Given the description of an element on the screen output the (x, y) to click on. 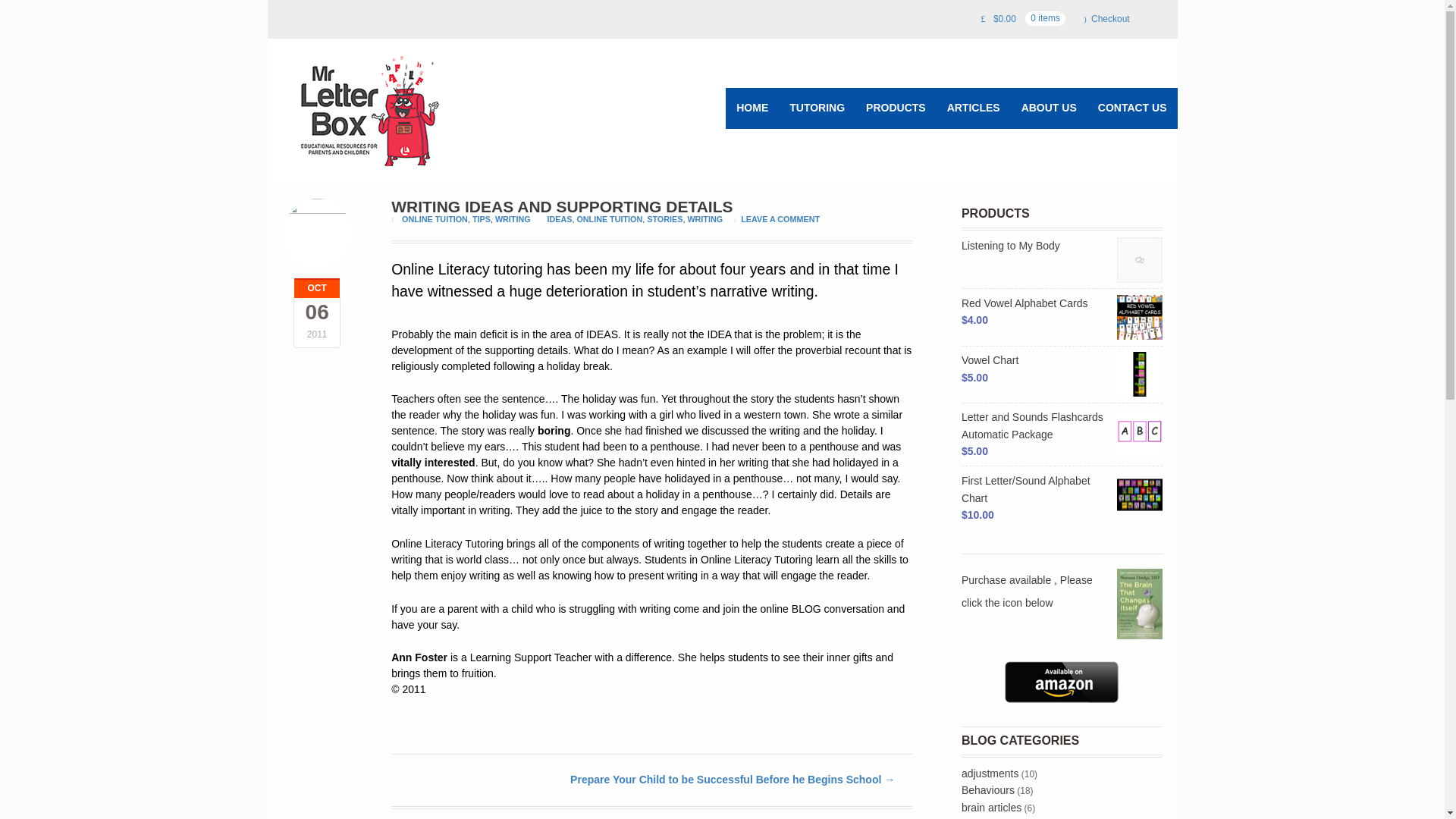
Mission, motto and philosophy. (1048, 108)
Listening to My Body (1060, 245)
Letter and Sounds Flashcards Automatic Package (1060, 425)
TUTORING (817, 108)
TIPS (480, 218)
Listening to My Body (1060, 245)
STORIES (664, 218)
LEAVE A COMMENT (780, 218)
